Given the description of an element on the screen output the (x, y) to click on. 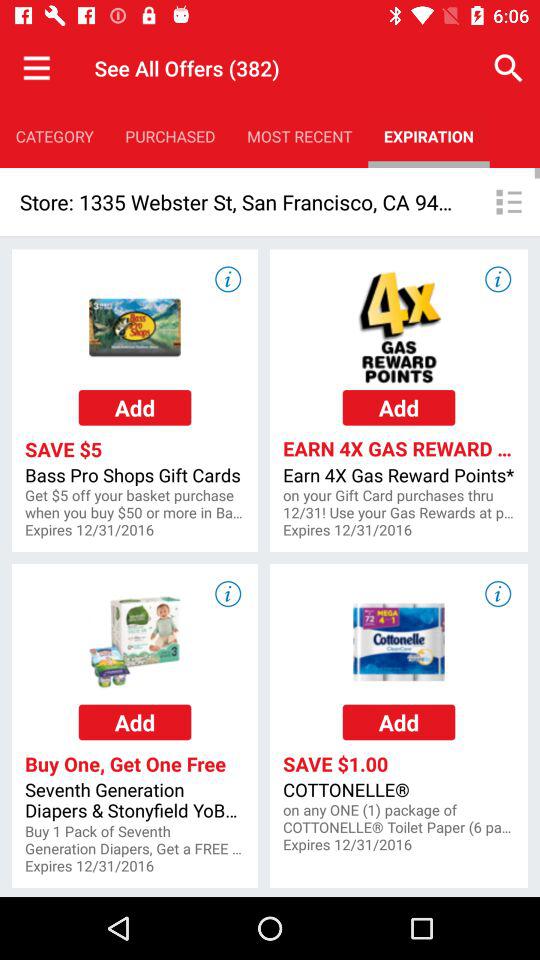
scroll until on any one (398, 819)
